Given the description of an element on the screen output the (x, y) to click on. 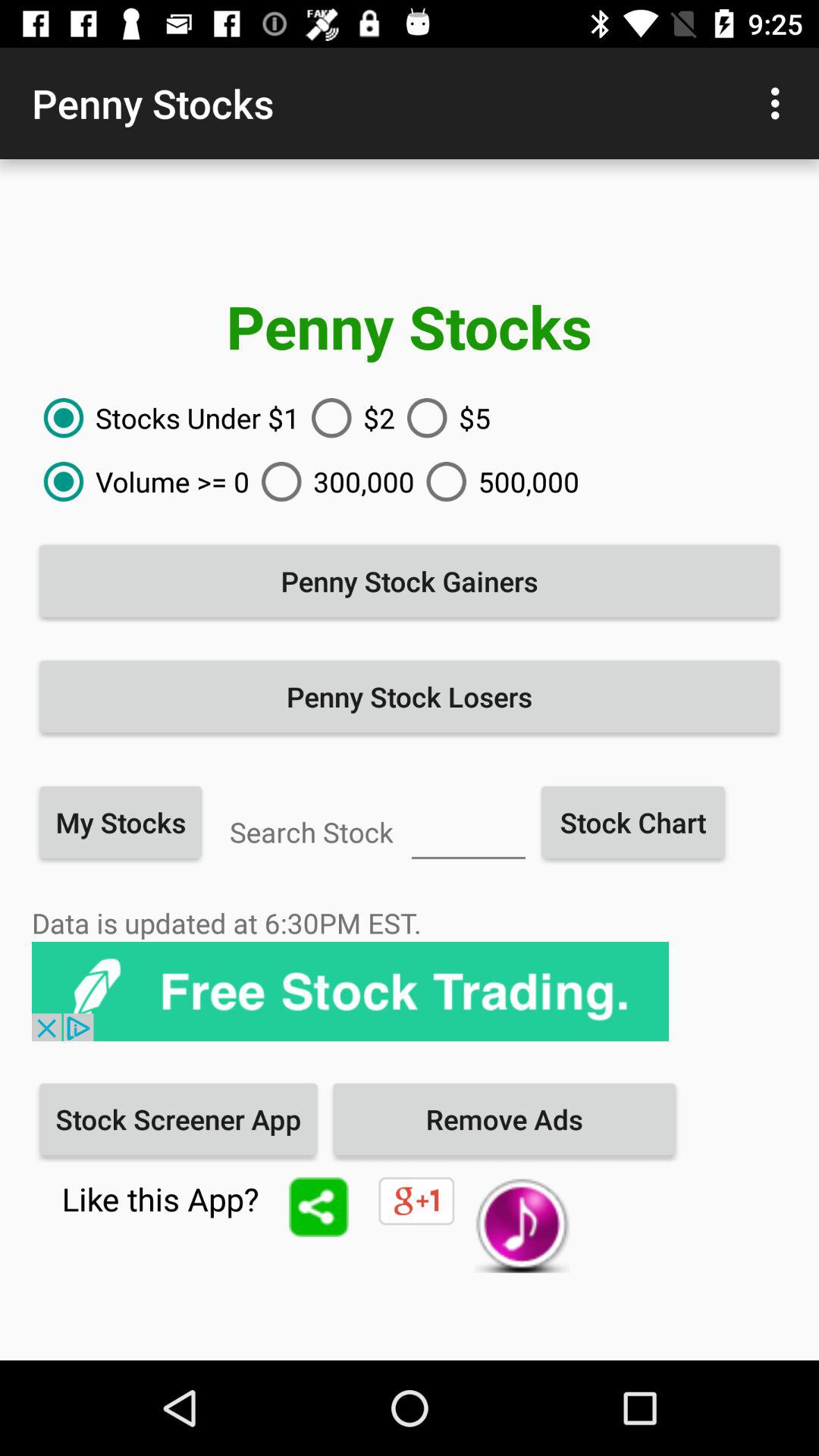
flip to the volume >= 0 (140, 481)
